Given the description of an element on the screen output the (x, y) to click on. 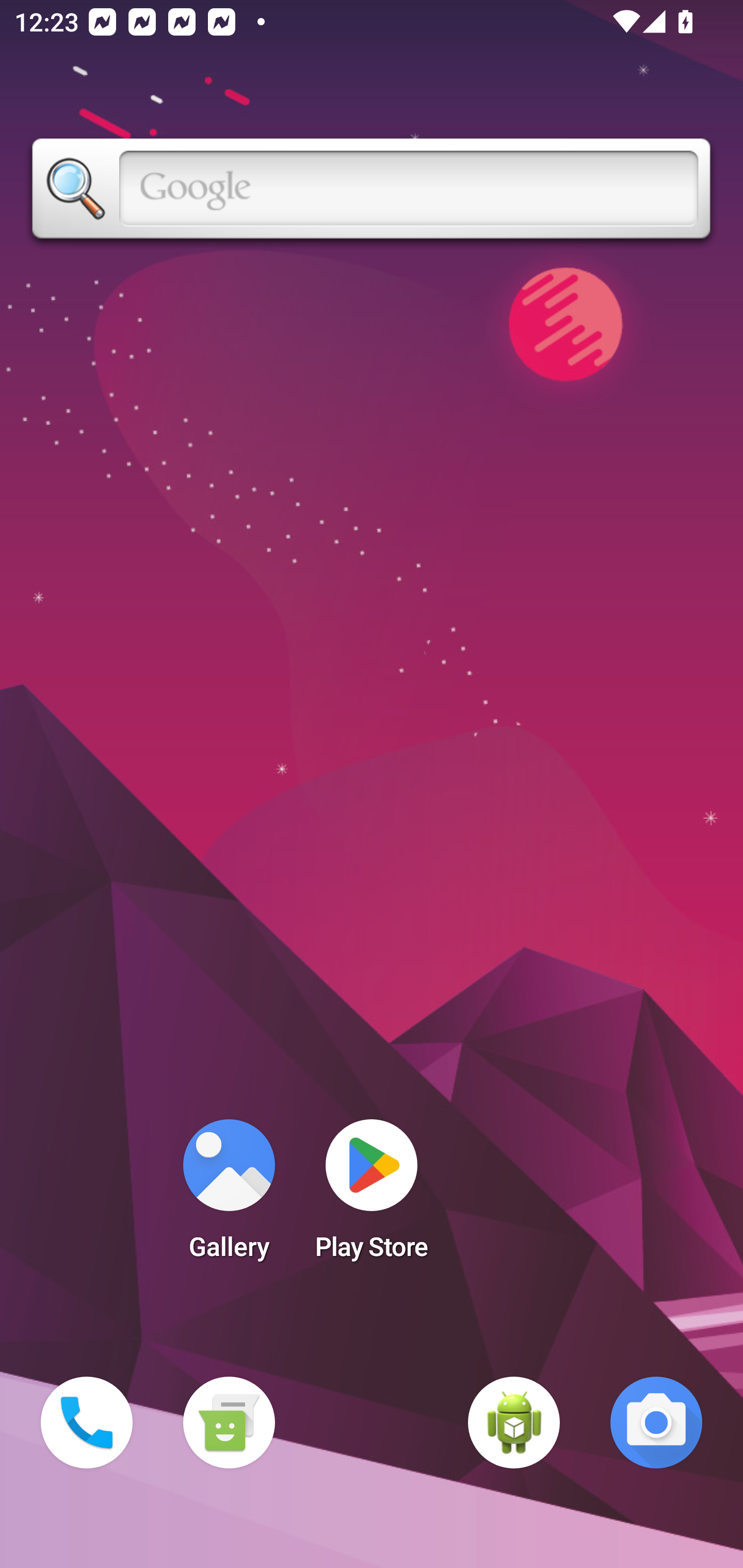
Gallery (228, 1195)
Play Store (371, 1195)
Phone (86, 1422)
Messaging (228, 1422)
WebView Browser Tester (513, 1422)
Camera (656, 1422)
